Given the description of an element on the screen output the (x, y) to click on. 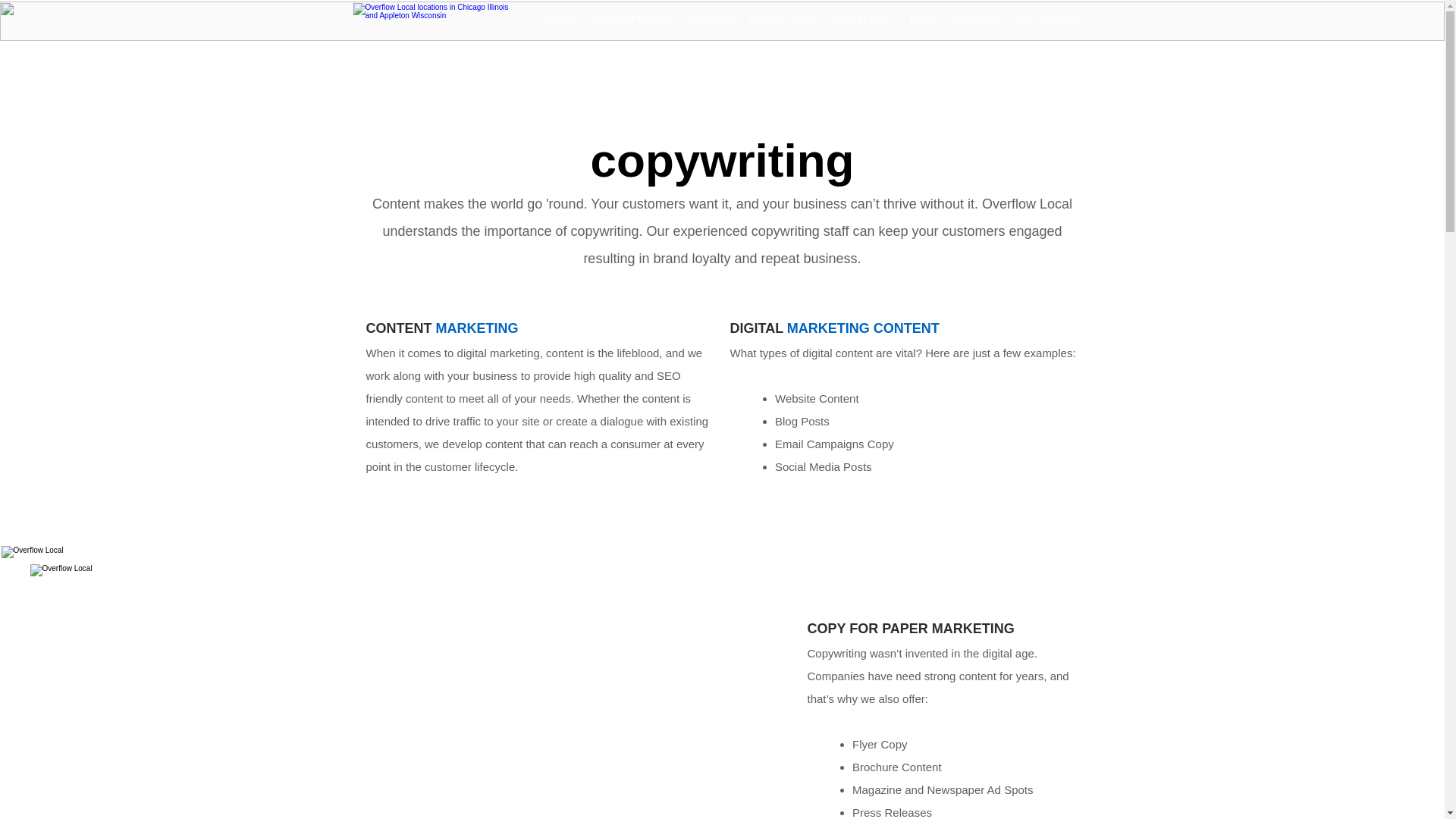
BLOG (922, 19)
ABOUT (560, 19)
WHITELABEL (861, 19)
OUR APPROACH (632, 19)
GET STARTED (1049, 19)
LATEST WORK (782, 19)
CONTACT (976, 19)
